Given the description of an element on the screen output the (x, y) to click on. 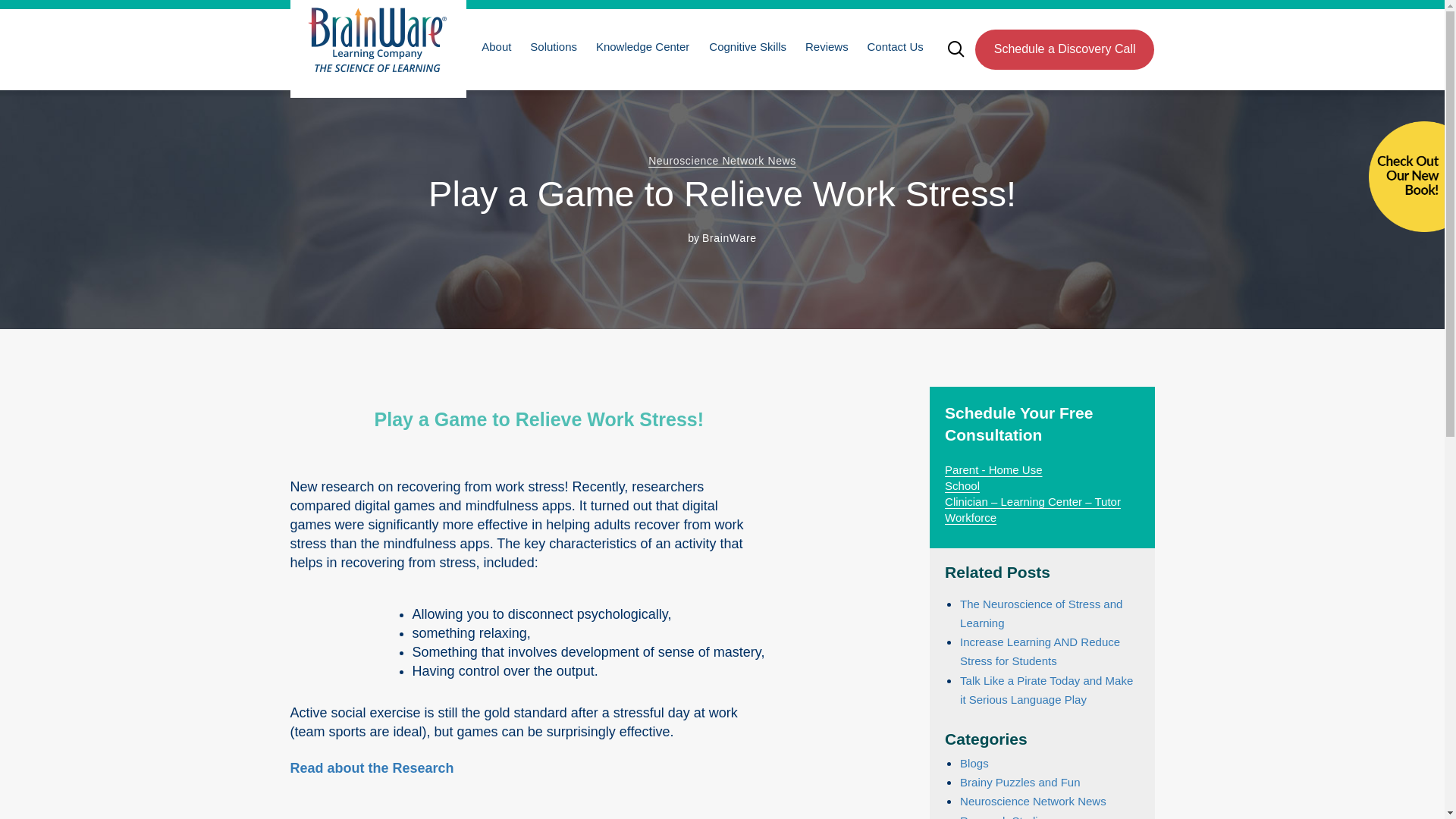
Solutions (551, 46)
Increase Learning AND Reduce Stress for Students (1039, 651)
Cognitive Skills (745, 46)
Blogs (973, 762)
Neuroscience Network News (721, 160)
Neuroscience Network News (721, 160)
Knowledge Center (641, 46)
About (494, 46)
Reviews (825, 46)
School (961, 485)
Talk Like a Pirate Today and Make it Serious Language Play (1045, 689)
Parent - Home Use (993, 469)
Workforce (969, 517)
The Neuroscience of Stress and Learning (1040, 613)
Schedule a Discovery Call (1064, 49)
